Given the description of an element on the screen output the (x, y) to click on. 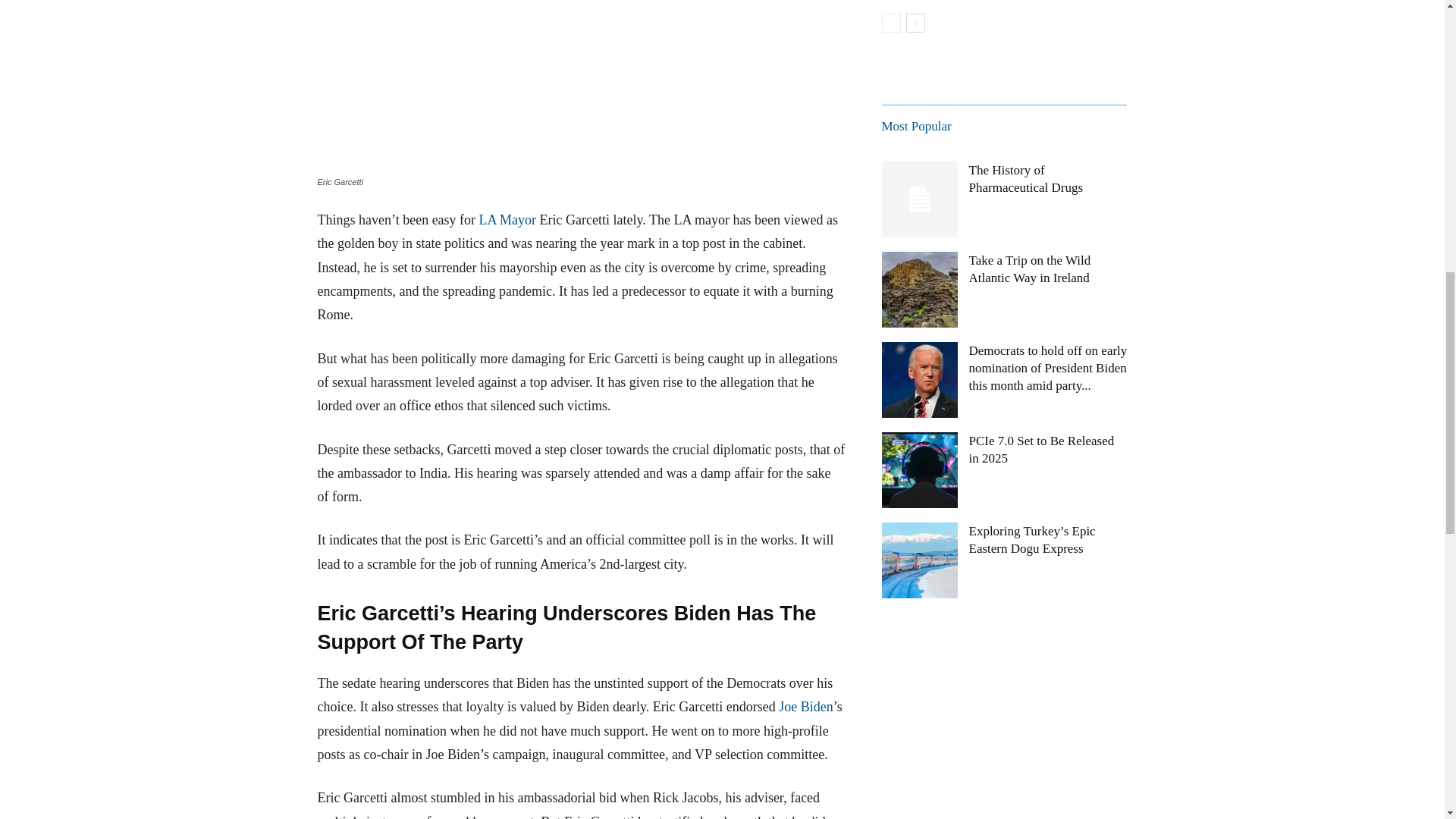
Eric Garcetti (580, 85)
Joe Biden (805, 706)
LA Mayor (508, 219)
